Given the description of an element on the screen output the (x, y) to click on. 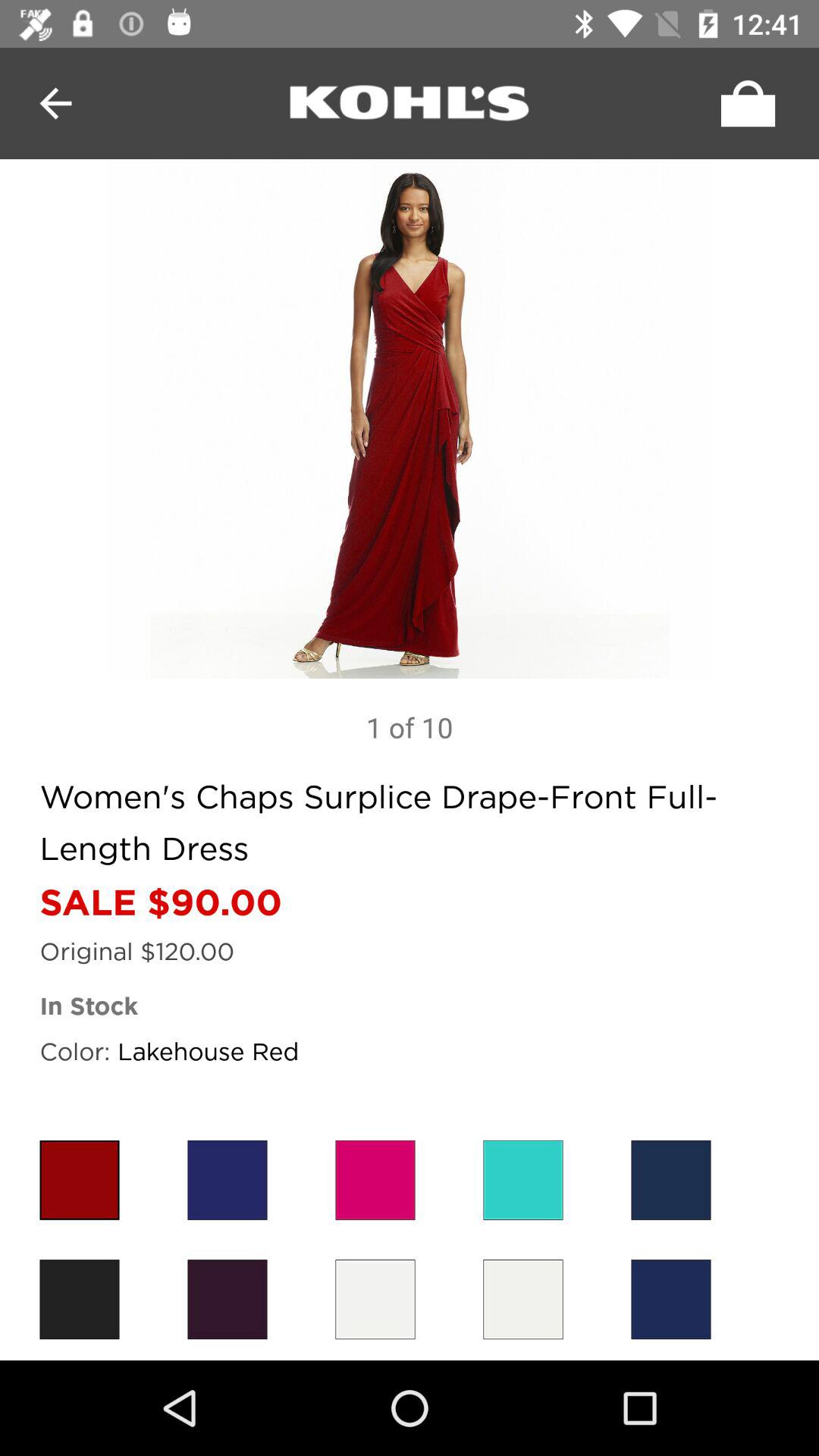
select item color (375, 1299)
